Given the description of an element on the screen output the (x, y) to click on. 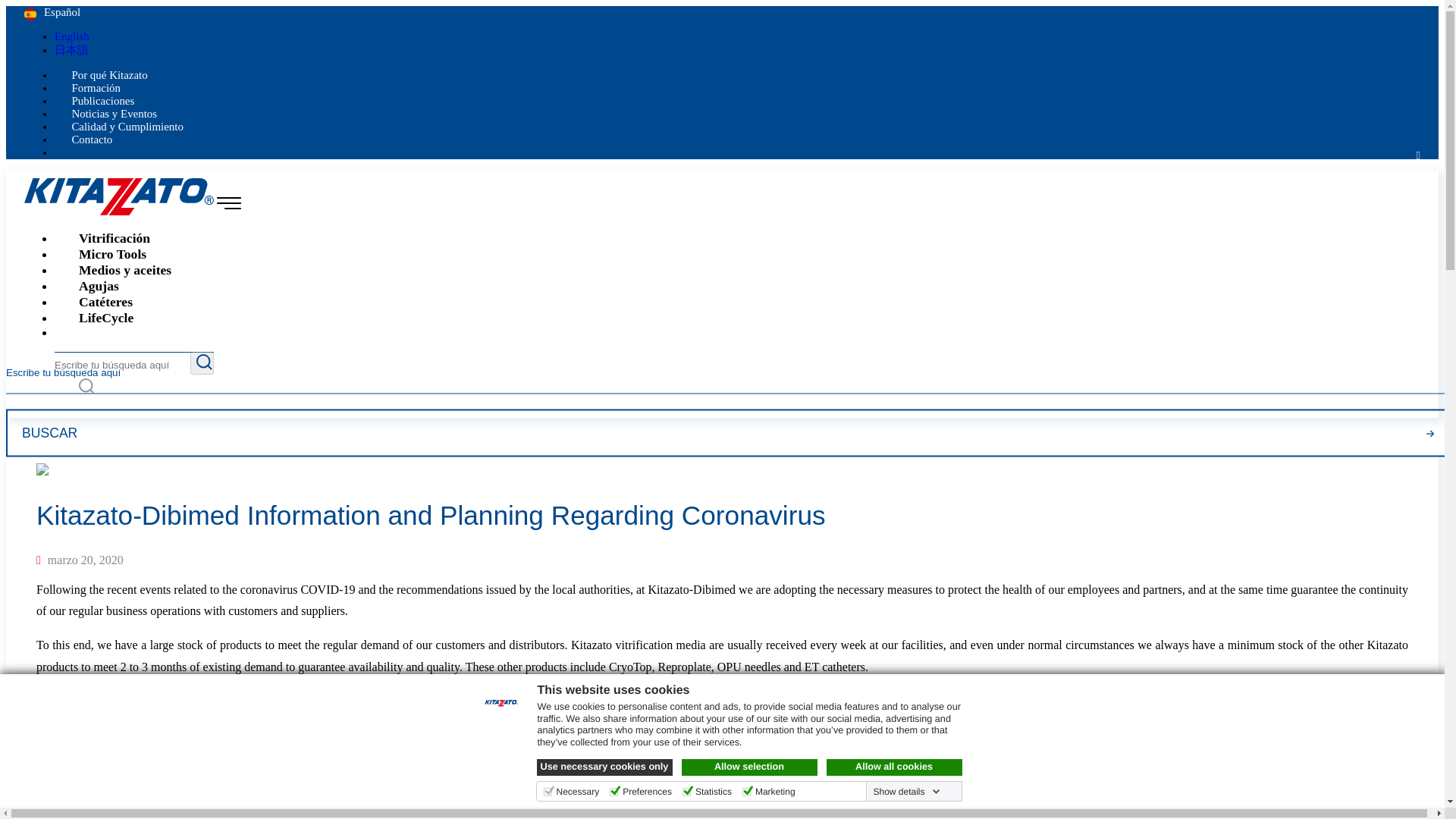
Show details (905, 791)
Use necessary cookies only (604, 767)
Allow all cookies (894, 767)
Allow selection (748, 767)
